Given the description of an element on the screen output the (x, y) to click on. 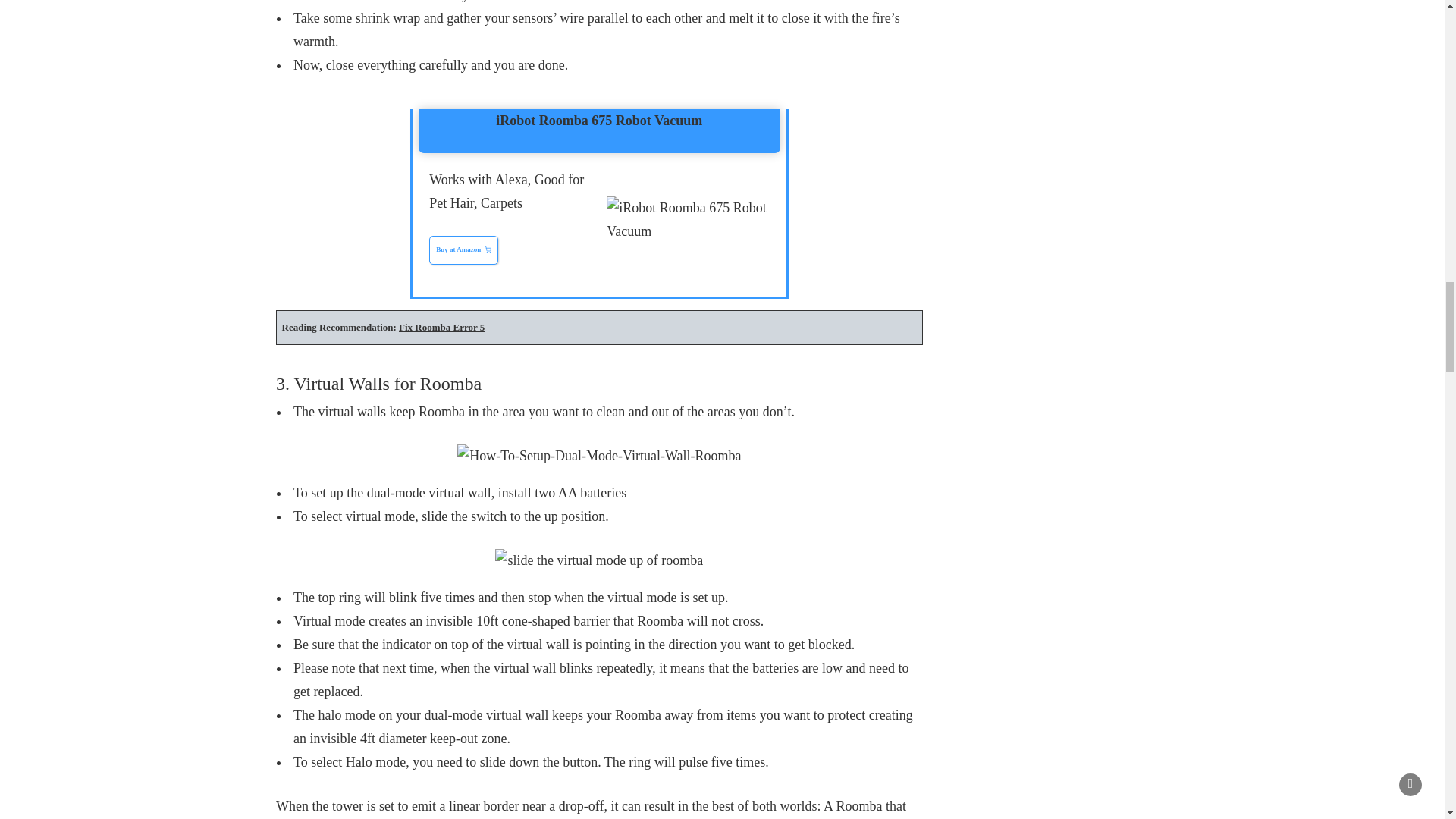
Buy at Amazon (463, 249)
Fix Roomba Error 5 (441, 326)
